Given the description of an element on the screen output the (x, y) to click on. 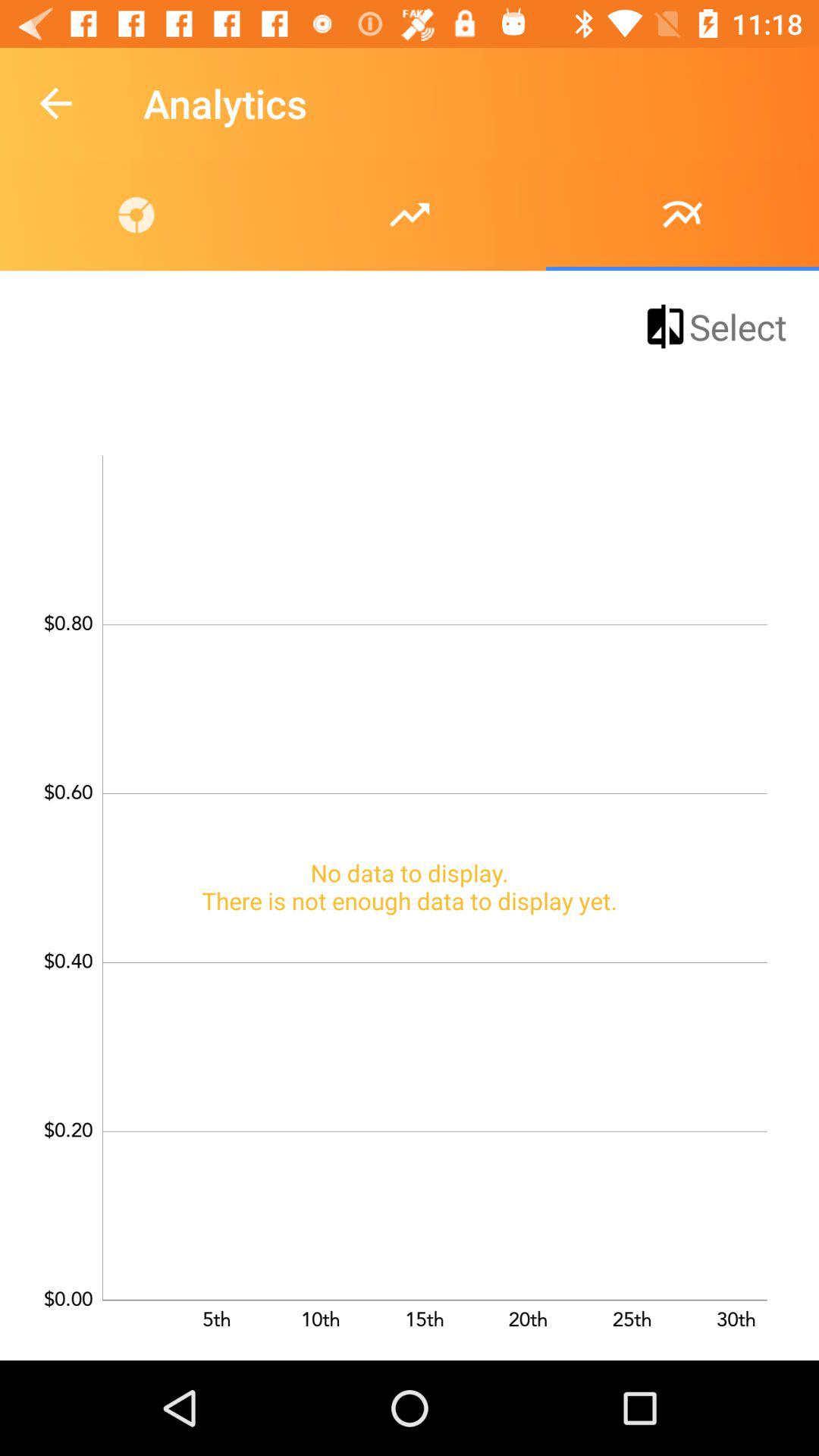
click the icon to the left of the analytics (55, 103)
